Given the description of an element on the screen output the (x, y) to click on. 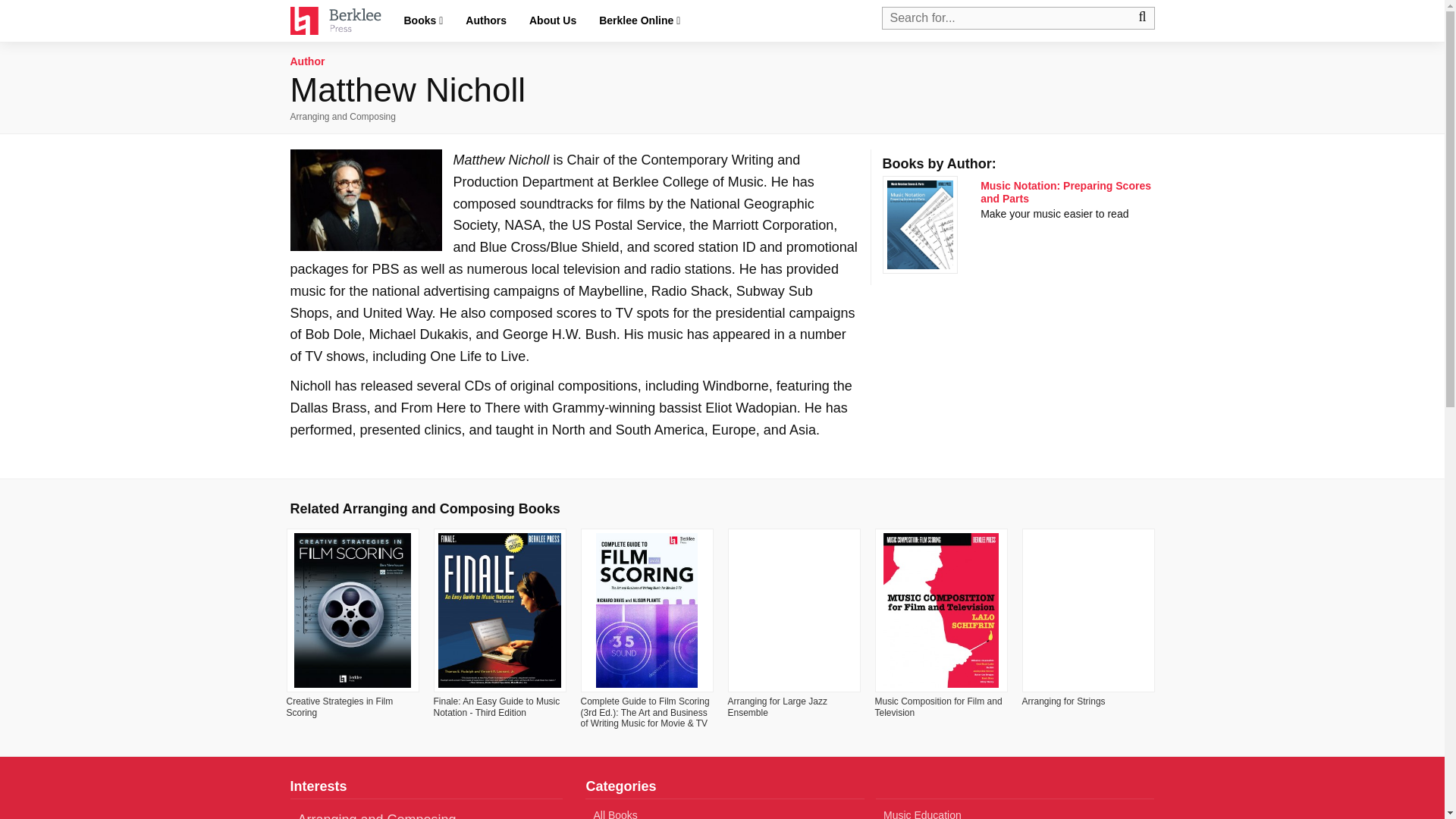
Music Composition for Film and Television (939, 706)
Author (306, 61)
Books (423, 20)
Arranging for Strings (1063, 701)
Music Notation (1065, 191)
Creative Strategies in Film Scoring (339, 706)
Authors (486, 20)
Arranging and Composing (341, 116)
About Us (553, 20)
Music Notation: Preparing Scores and Parts (1065, 191)
